Given the description of an element on the screen output the (x, y) to click on. 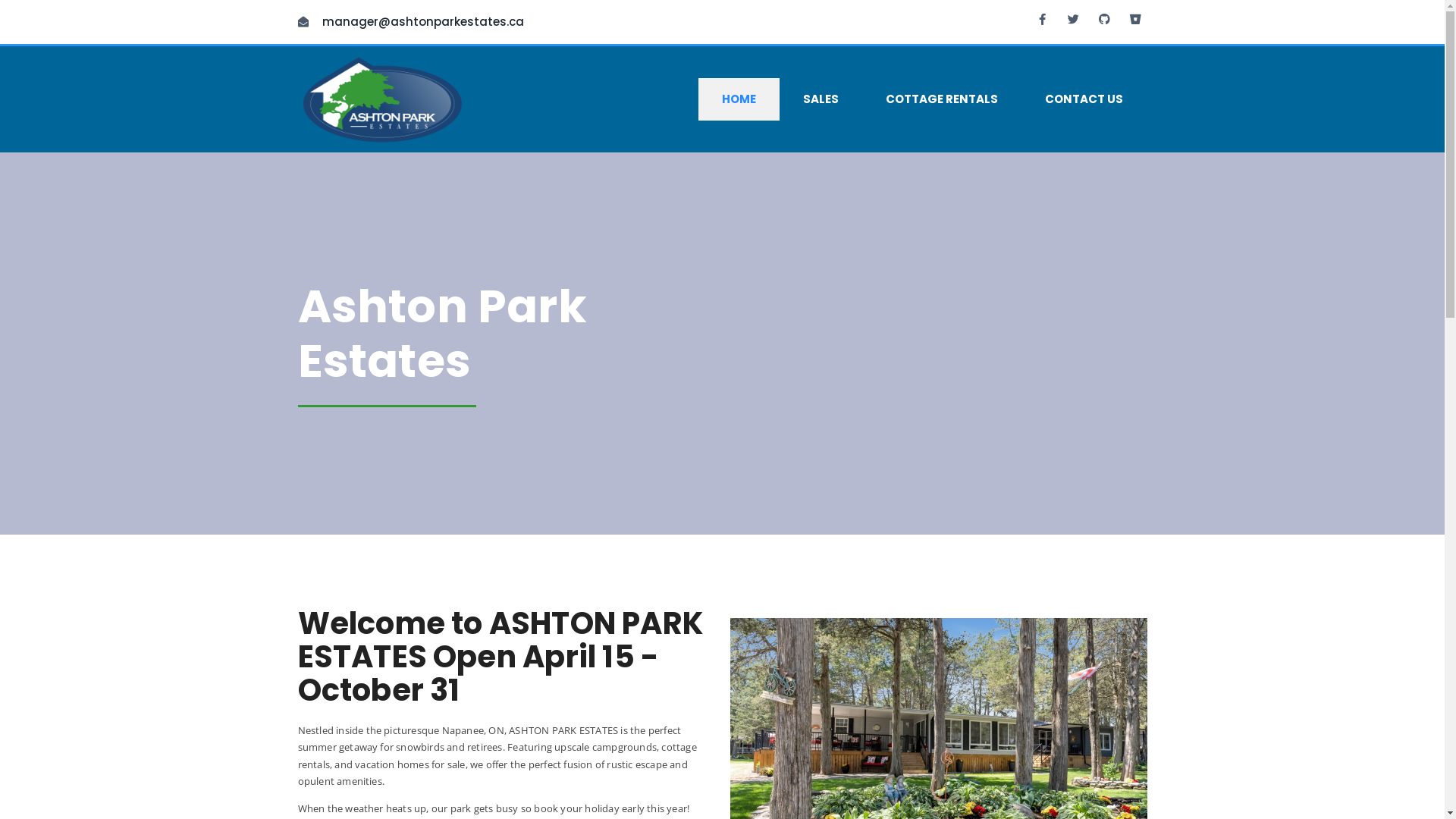
CONTACT US Element type: text (1083, 99)
HOME Element type: text (738, 99)
COTTAGE RENTALS Element type: text (941, 99)
SALES Element type: text (820, 99)
